Given the description of an element on the screen output the (x, y) to click on. 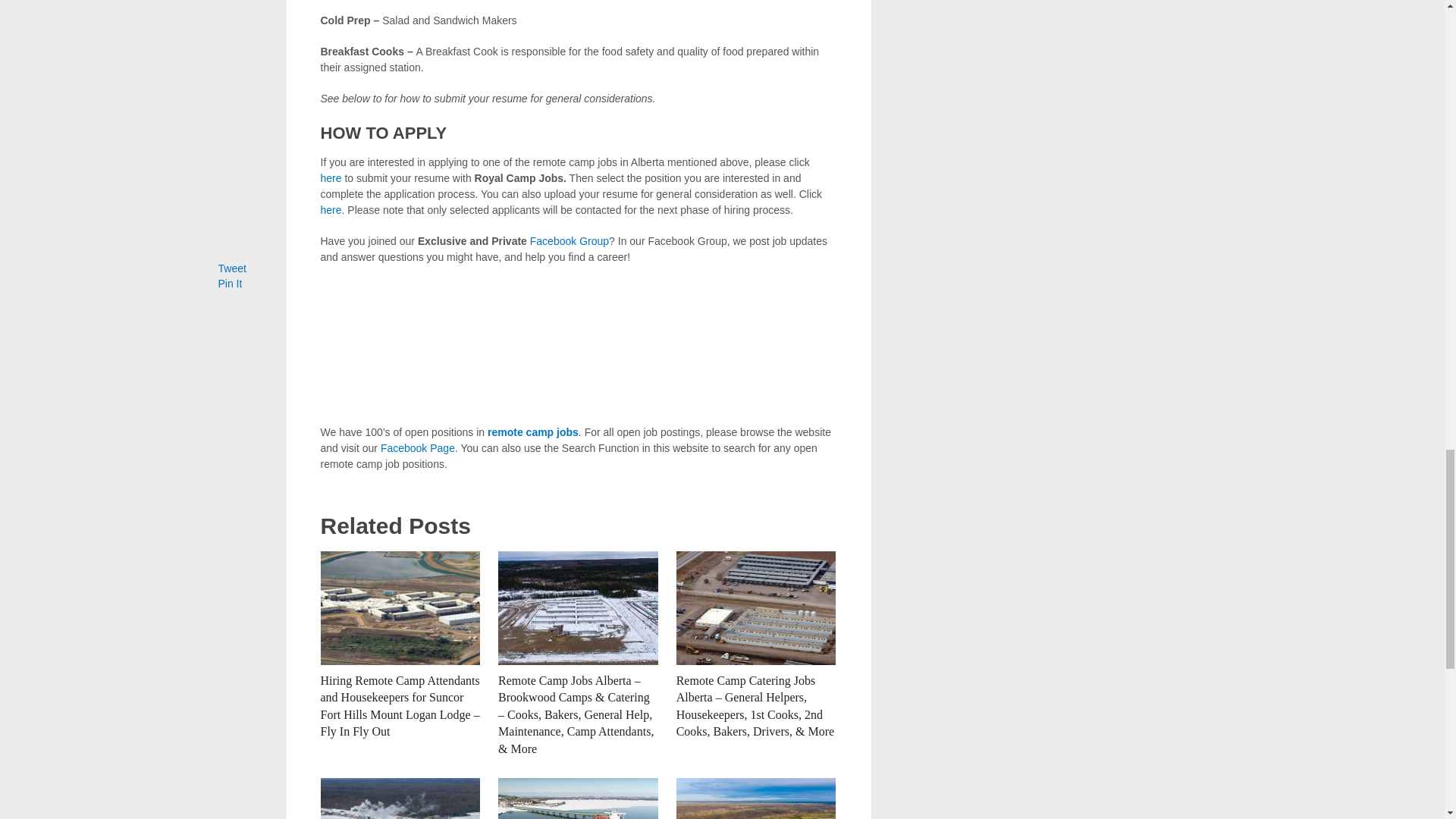
here (330, 177)
Facebook Group (568, 241)
Advertisement (577, 344)
remote camp jobs (532, 431)
here (330, 209)
